Given the description of an element on the screen output the (x, y) to click on. 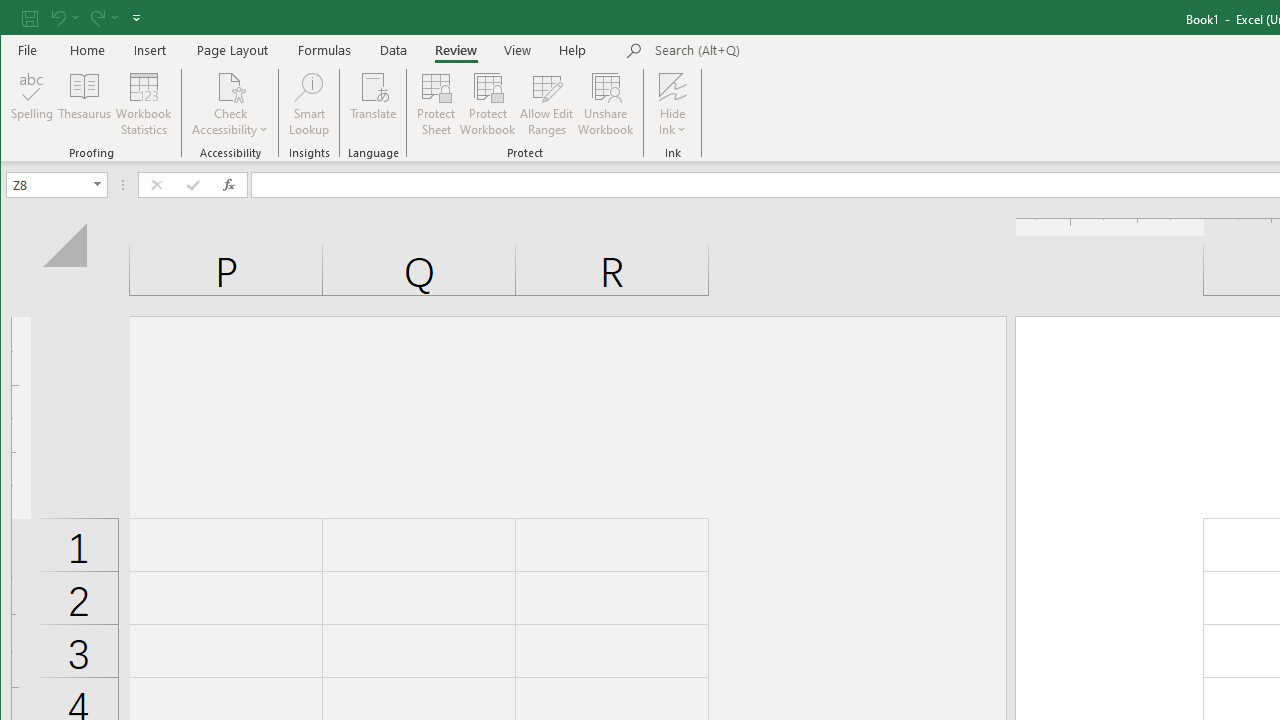
Thesaurus... (84, 104)
Check Accessibility (230, 86)
Protect Workbook... (488, 104)
Check Accessibility (230, 104)
Unshare Workbook (606, 104)
Hide Ink (672, 104)
Allow Edit Ranges (547, 104)
Workbook Statistics (143, 104)
